Given the description of an element on the screen output the (x, y) to click on. 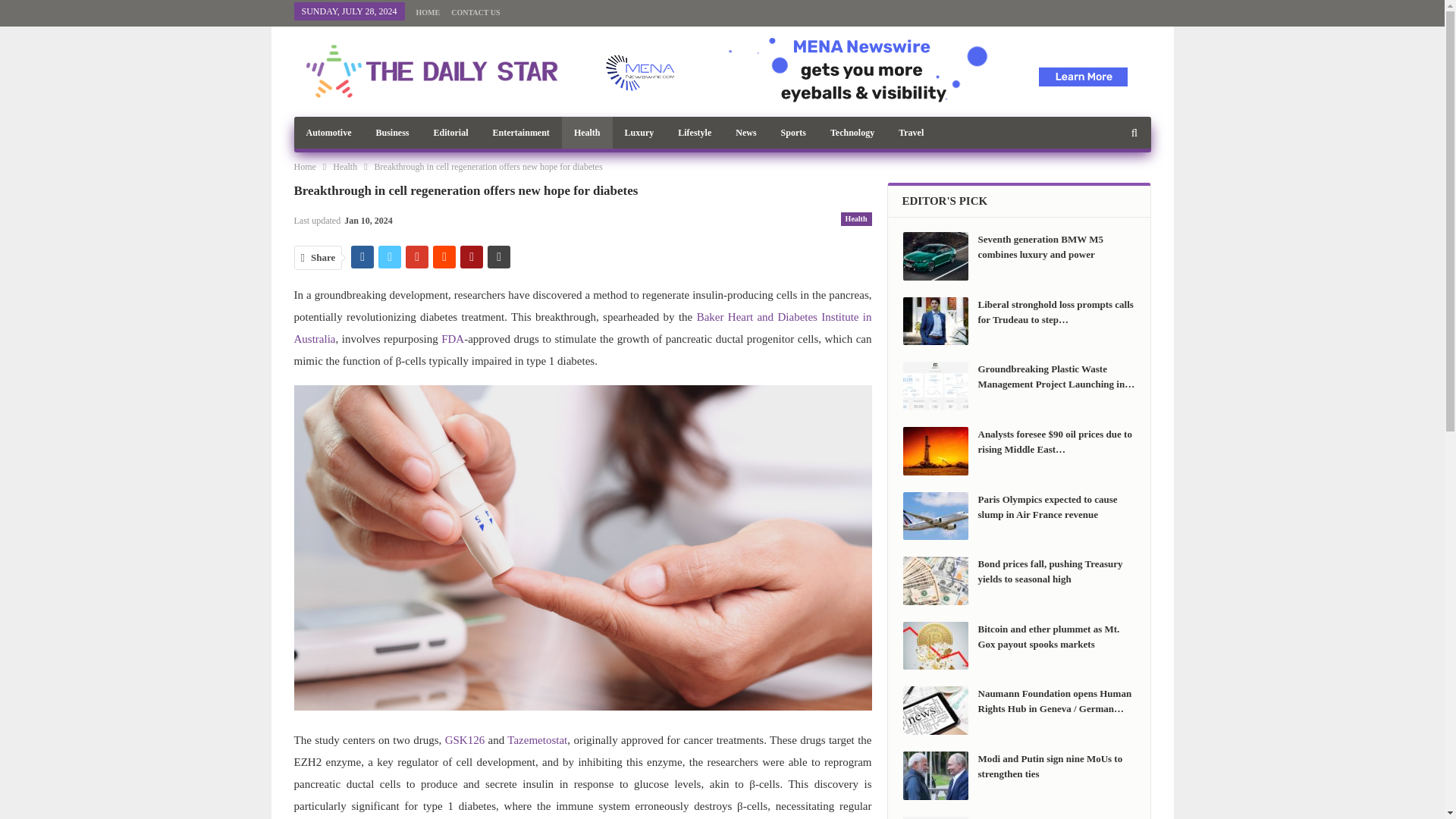
Seventh generation BMW M5 combines luxury and power (935, 255)
Luxury (639, 132)
Health (856, 219)
Health (587, 132)
Editorial (451, 132)
GSK126 (464, 739)
Baker Heart and Diabetes Institute in Australia (583, 327)
Technology (852, 132)
Sports (793, 132)
Entertainment (521, 132)
Paris Olympics expected to cause slump in Air France revenue (935, 515)
Tazemetostat (536, 739)
Health (344, 166)
HOME (428, 12)
